Given the description of an element on the screen output the (x, y) to click on. 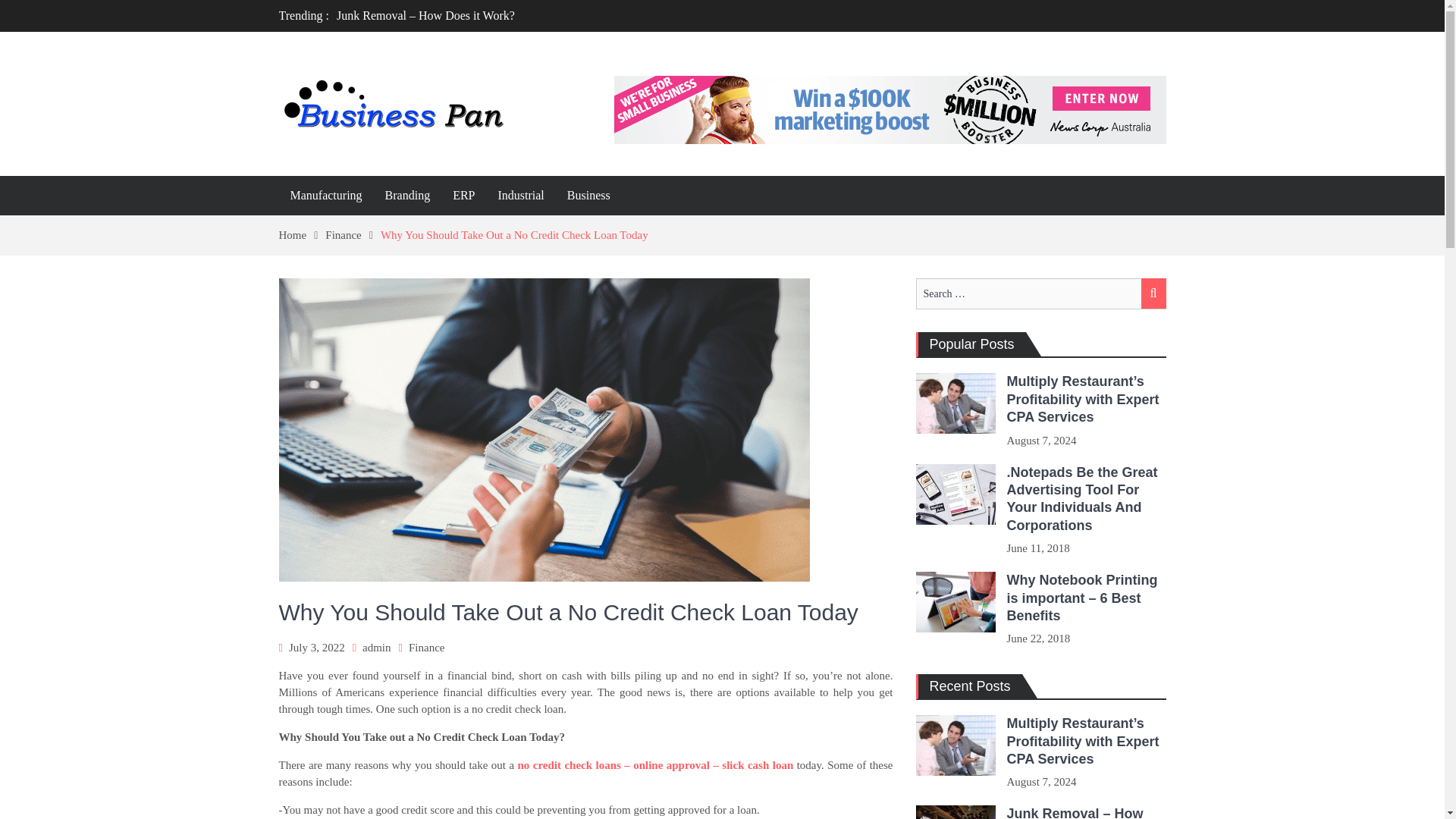
Manufacturing (326, 195)
Finance (426, 647)
Branding (408, 195)
July 3, 2022 (316, 647)
admin (376, 647)
ERP (463, 195)
Industrial (520, 195)
Home (302, 234)
Finance (352, 234)
